Given the description of an element on the screen output the (x, y) to click on. 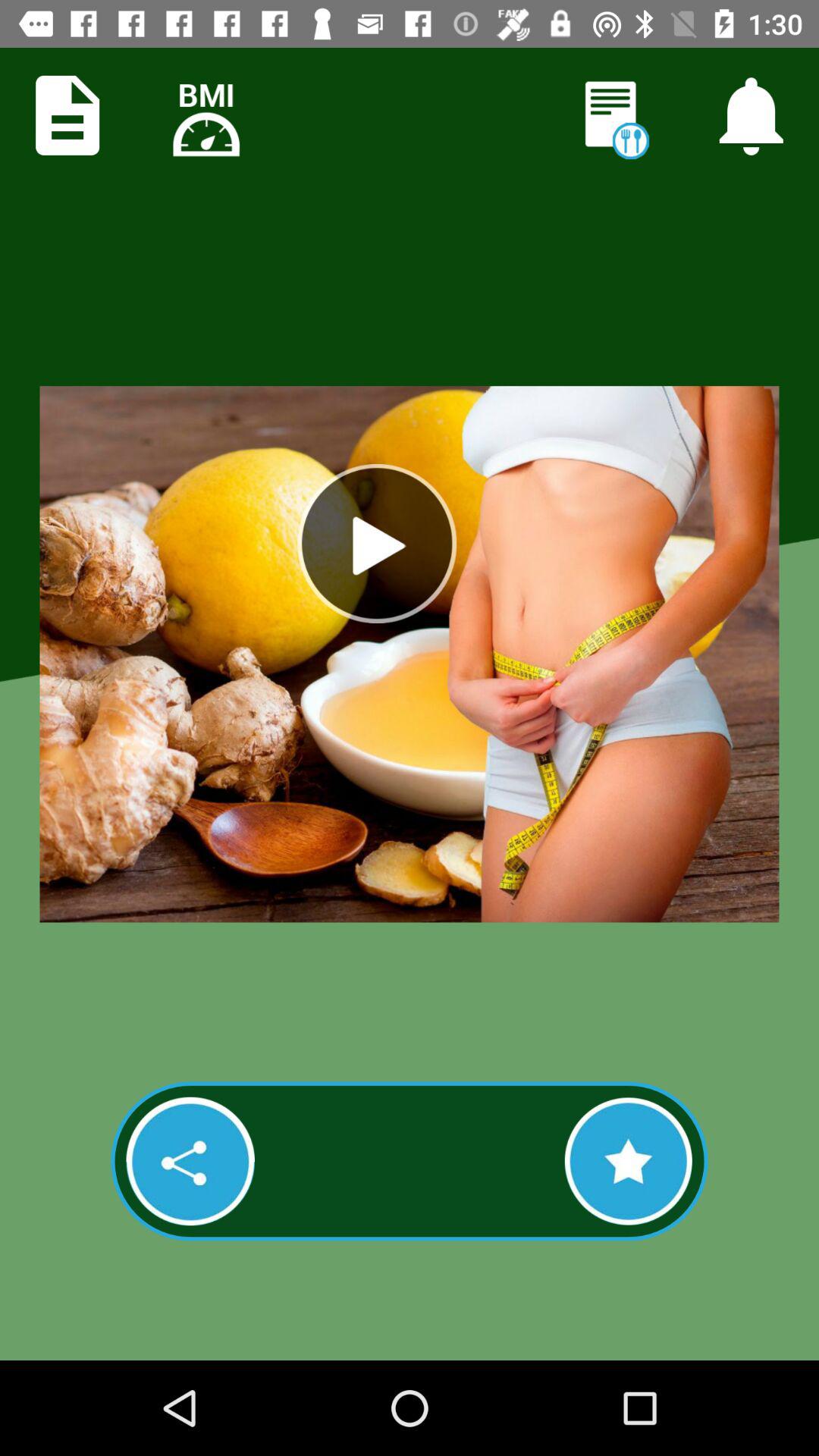
play video (376, 543)
